Given the description of an element on the screen output the (x, y) to click on. 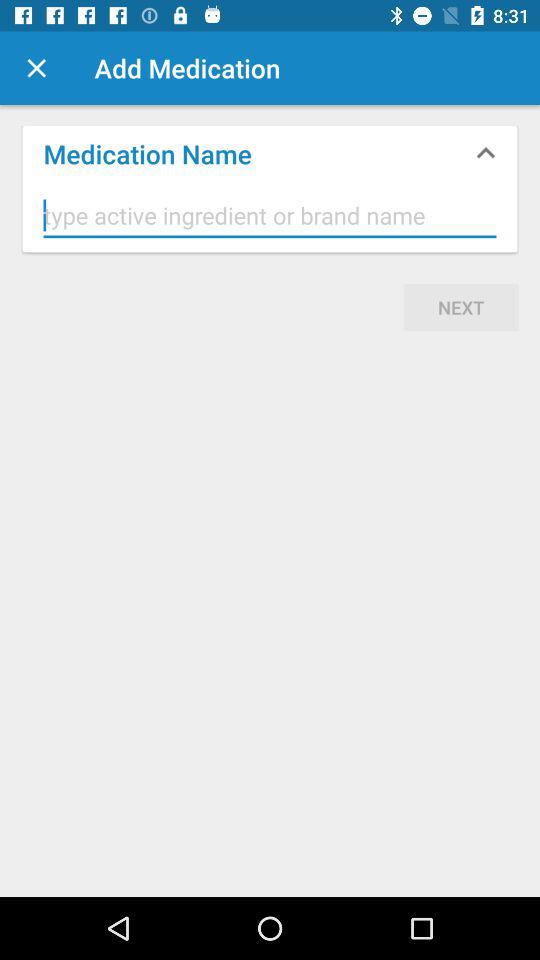
tap next icon (461, 307)
